Given the description of an element on the screen output the (x, y) to click on. 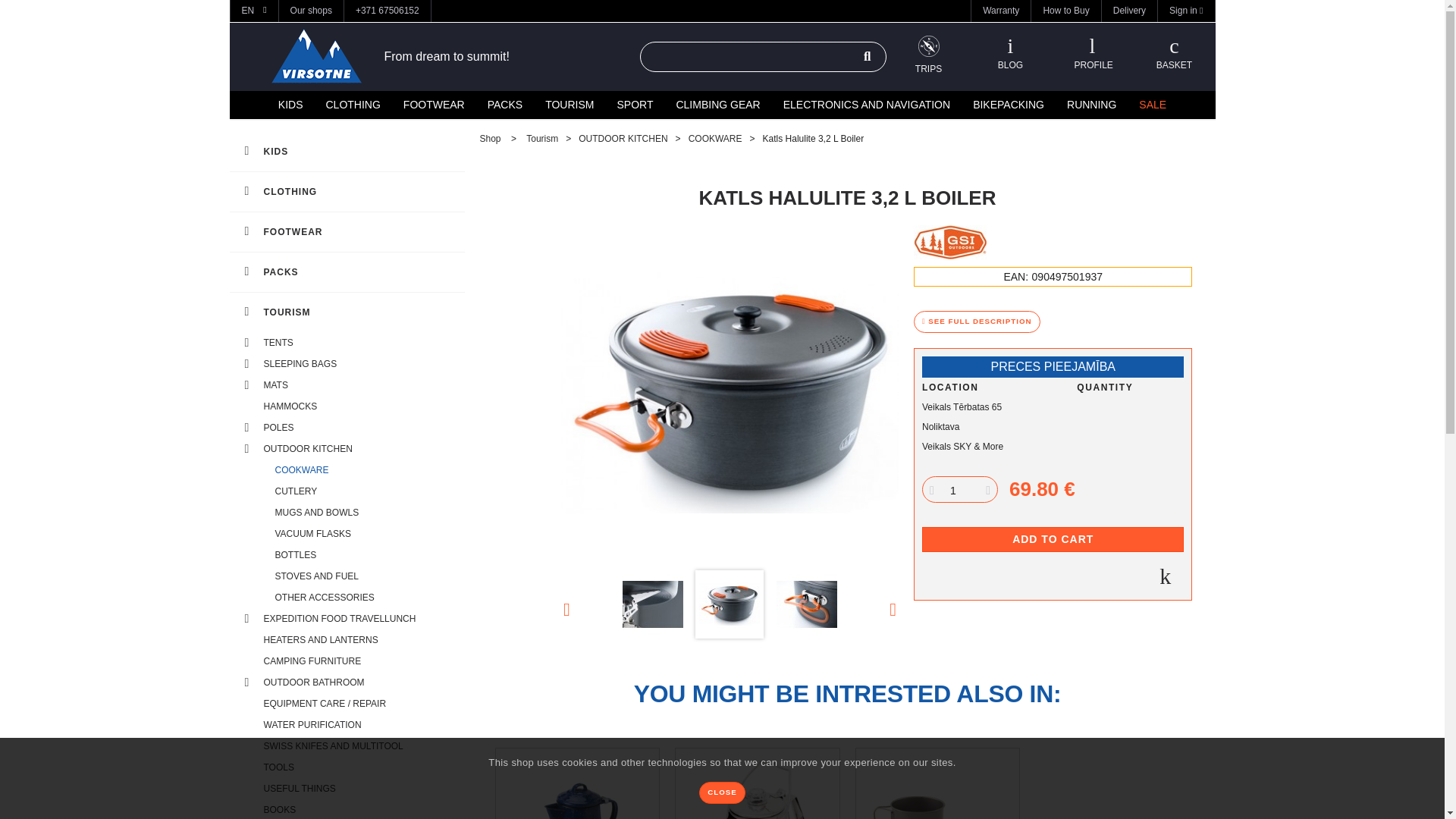
Notes (1009, 54)
Warranty (1000, 9)
Notes (928, 56)
SEE FULL DESCRIPTION (977, 321)
How to Buy (1065, 9)
KIDS (287, 104)
View my customer account (1091, 54)
Virsotne (315, 56)
Warranty (1000, 9)
BLOG (1009, 54)
Delivery (1129, 9)
View my shopping cart (1174, 54)
PROFILE (1091, 54)
Our shops (310, 9)
1 (953, 490)
